Given the description of an element on the screen output the (x, y) to click on. 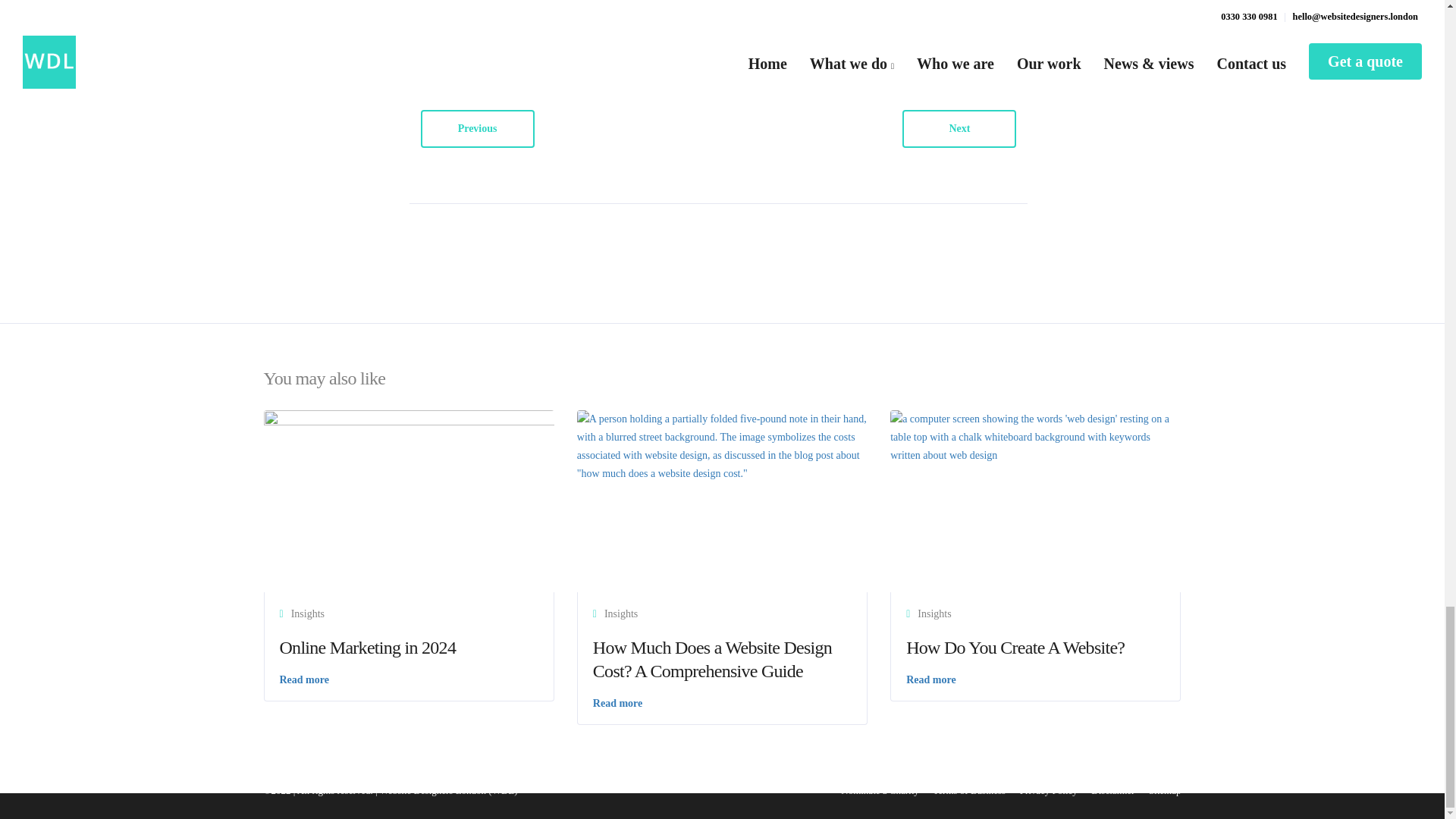
Share on Twitter (612, 42)
Previous (477, 128)
Next (959, 128)
Share on LinkedIn (747, 42)
Insights (307, 613)
Share on Facebook (476, 42)
